Given the description of an element on the screen output the (x, y) to click on. 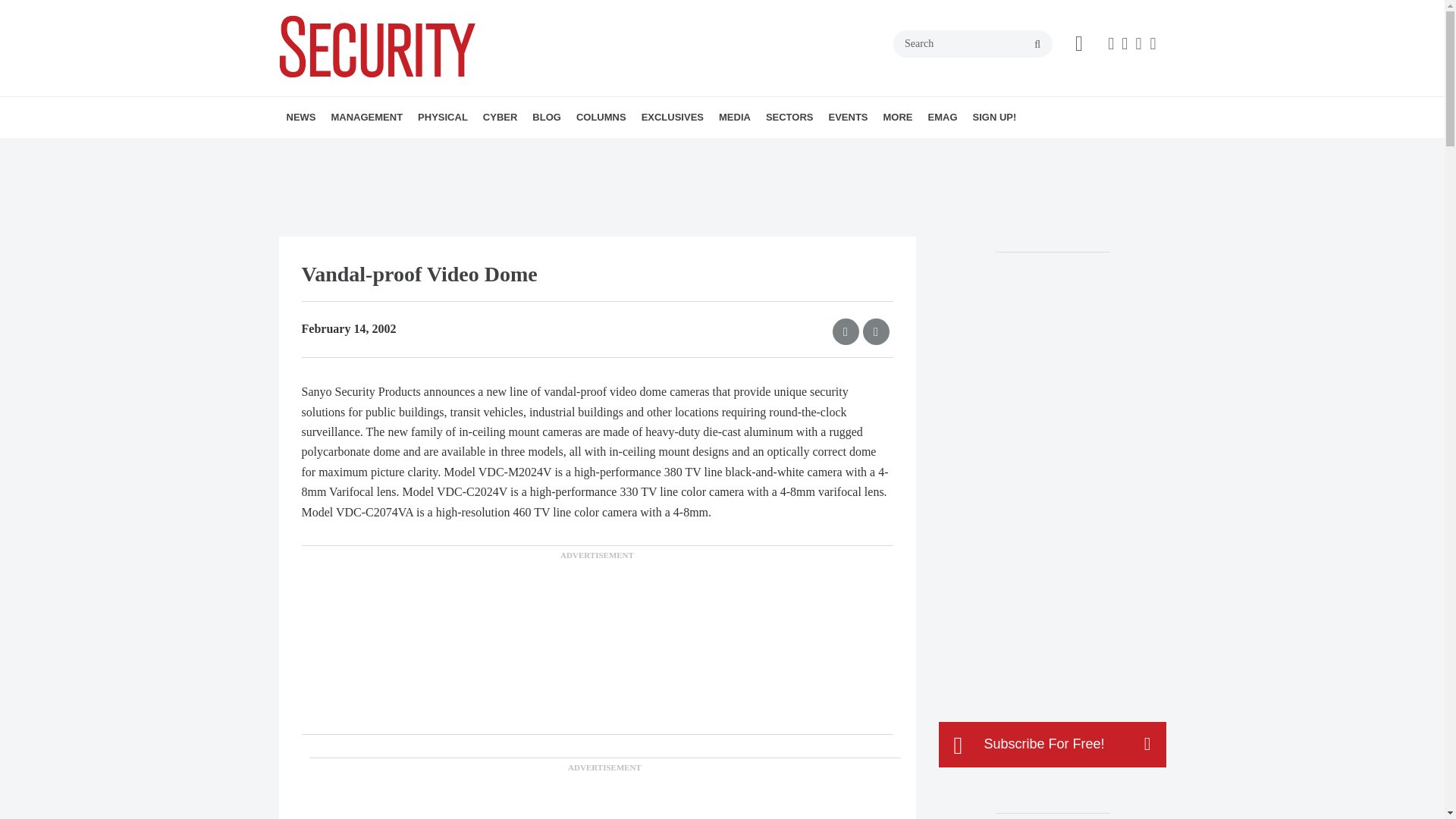
SECURITY TALK (676, 150)
SECURITY NEWSWIRE (373, 150)
CYBERSECURITY NEWS (570, 150)
MORE (576, 150)
CYBER (500, 117)
IDENTITY MANAGEMENT (517, 150)
LEADERSHIP MANAGEMENT (417, 150)
ENTERPRISE SERVICES (424, 150)
ACCESS MANAGEMENT (504, 150)
MANAGEMENT (366, 117)
